Given the description of an element on the screen output the (x, y) to click on. 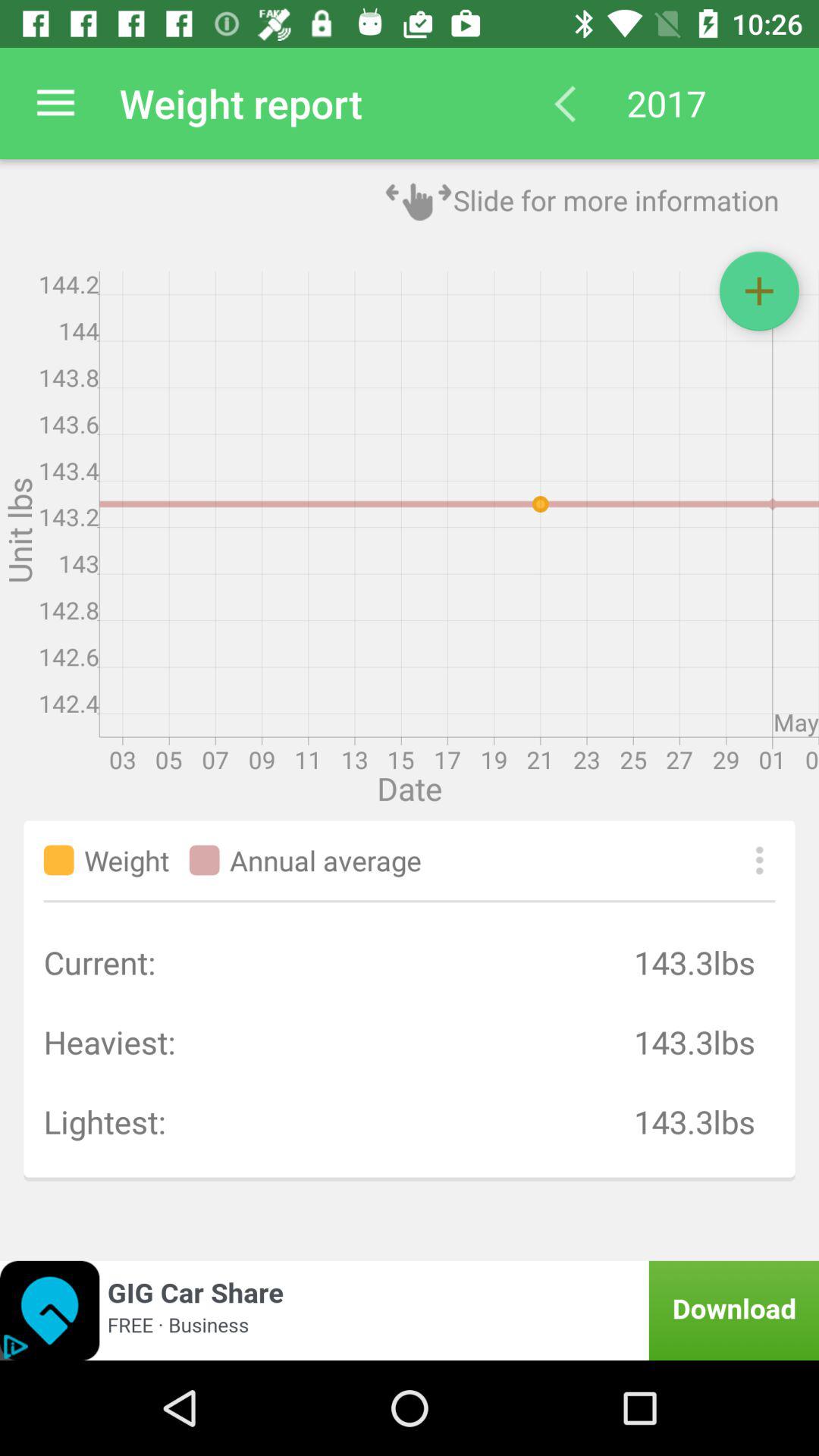
click on plus icon (759, 291)
go to left of annual average (204, 860)
